Given the description of an element on the screen output the (x, y) to click on. 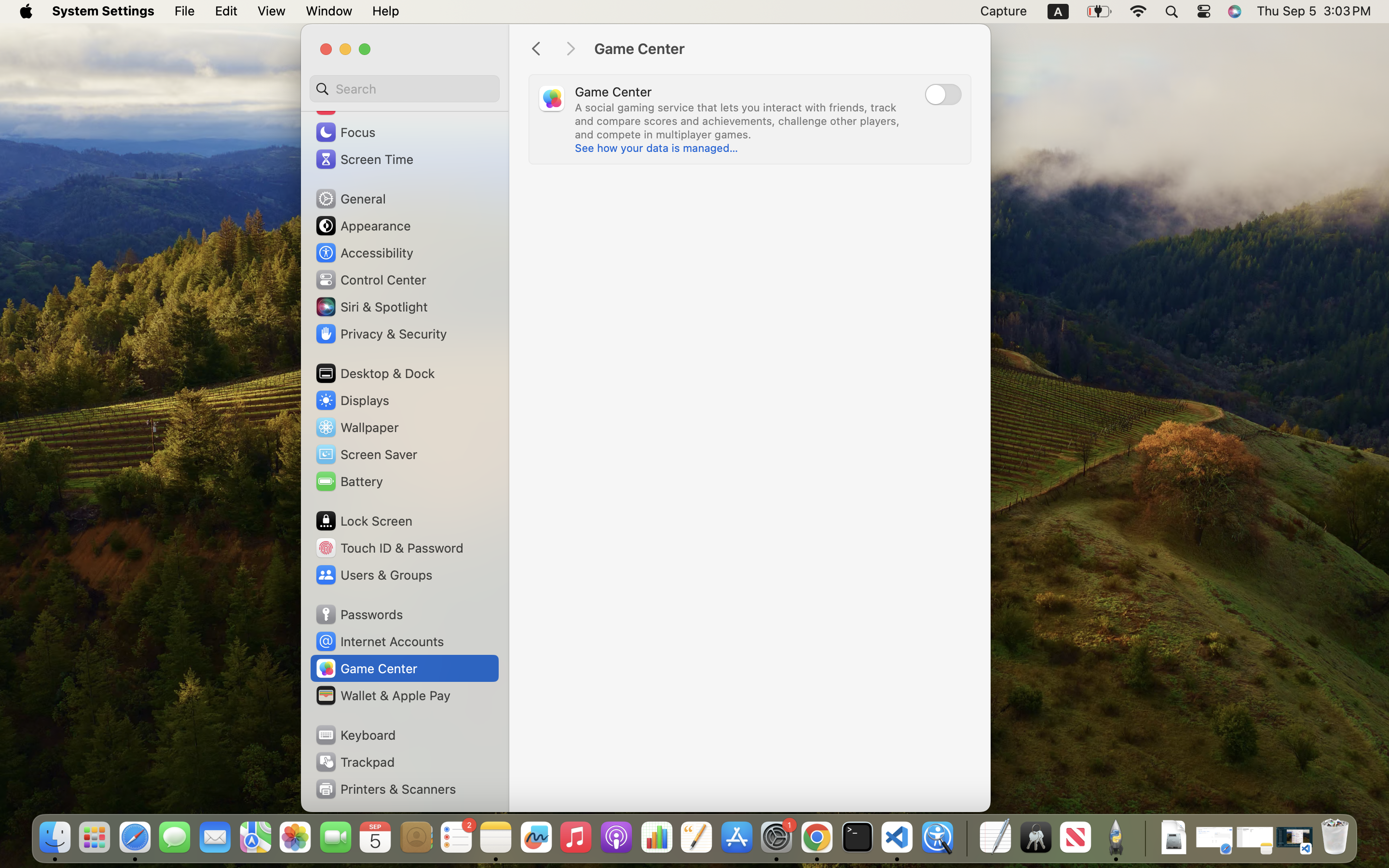
Passwords Element type: AXStaticText (358, 613)
Wallet & Apple Pay Element type: AXStaticText (382, 694)
